Given the description of an element on the screen output the (x, y) to click on. 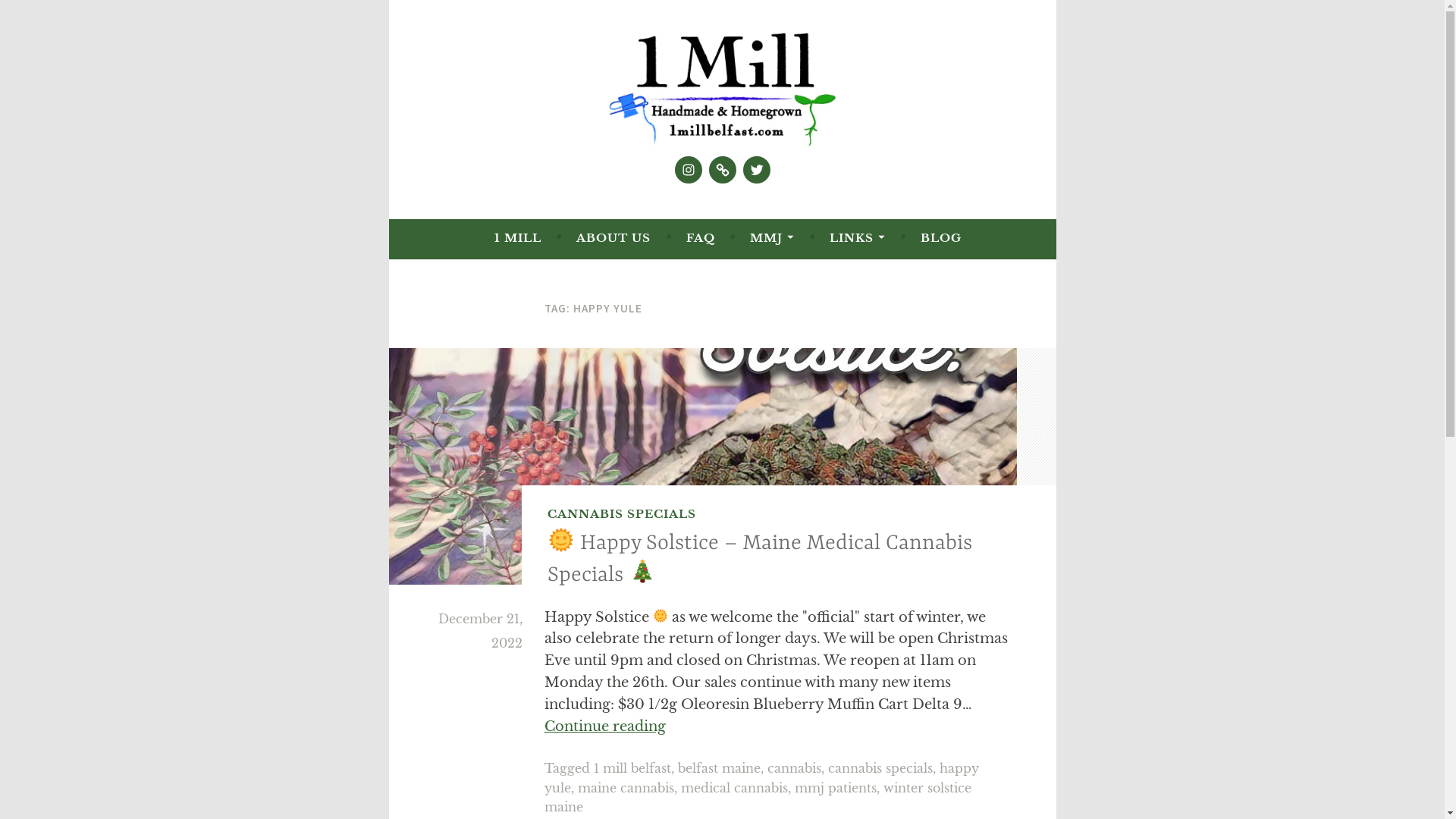
1 Mill Belfast Maine Element type: text (566, 179)
belfast maine Element type: text (718, 767)
happy yule Element type: text (761, 777)
maine cannabis Element type: text (625, 787)
winter solstice maine Element type: text (757, 797)
cannabis Element type: text (794, 767)
CANNABIS SPECIALS Element type: text (621, 514)
cannabis specials Element type: text (880, 767)
LINKS Element type: text (856, 237)
December 21, 2022 Element type: text (480, 630)
1 mill belfast Element type: text (631, 767)
Leafly Element type: text (721, 169)
BLOG Element type: text (940, 237)
Instagram Element type: text (688, 169)
mmj patients Element type: text (835, 787)
medical cannabis Element type: text (733, 787)
ABOUT US Element type: text (613, 237)
FAQ Element type: text (700, 237)
Twitter Element type: text (756, 169)
MMJ Element type: text (771, 237)
1 MILL Element type: text (517, 237)
